Given the description of an element on the screen output the (x, y) to click on. 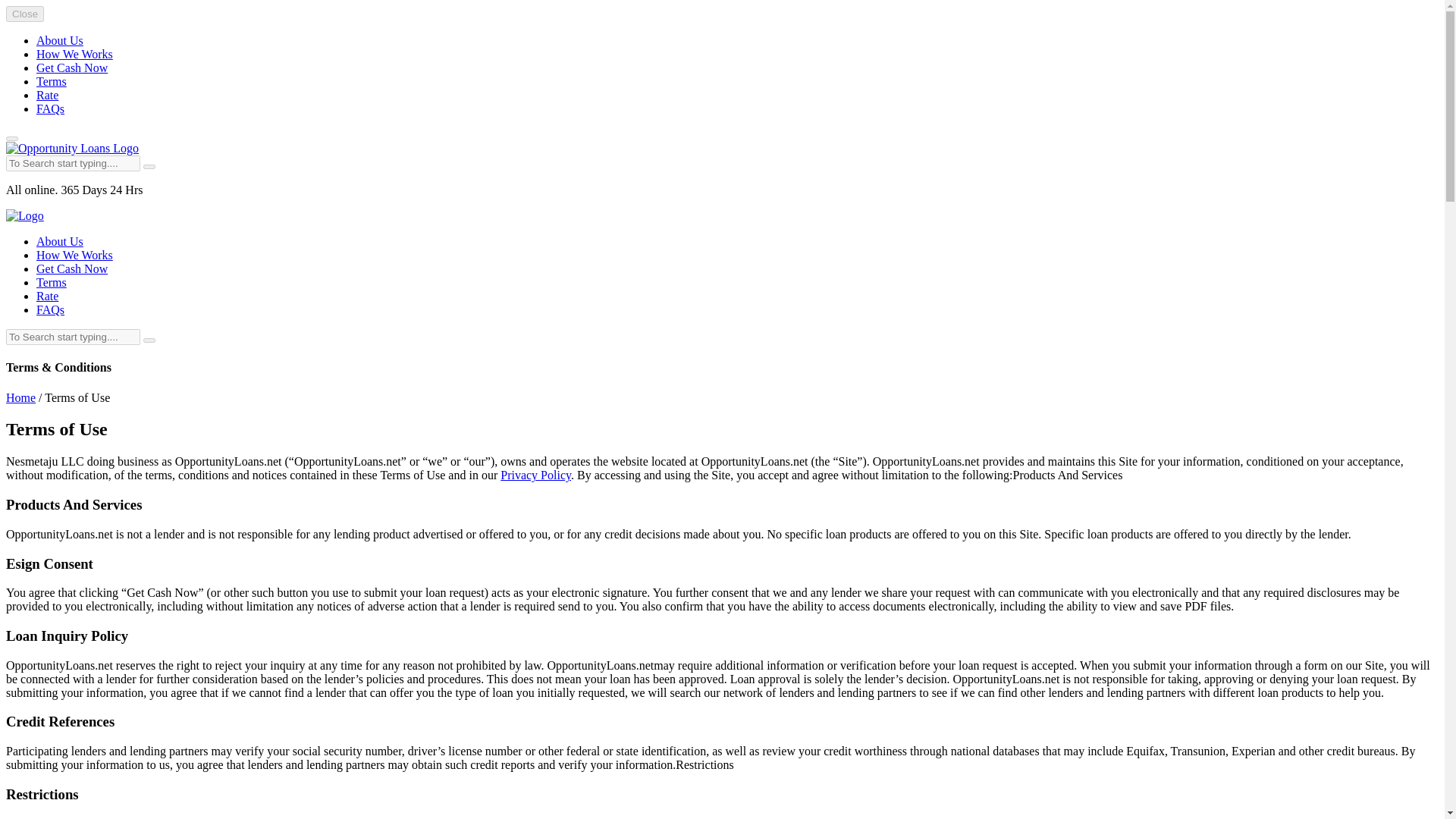
Close (24, 13)
About Us (59, 241)
About Us (59, 40)
FAQs (50, 309)
Home (19, 397)
Get Cash Now (71, 67)
Privacy Policy (535, 474)
Get Cash Now (71, 268)
Rate (47, 94)
How We Works (74, 53)
Terms (51, 81)
How We Works (74, 254)
FAQs (50, 108)
Terms (51, 282)
Rate (47, 295)
